Given the description of an element on the screen output the (x, y) to click on. 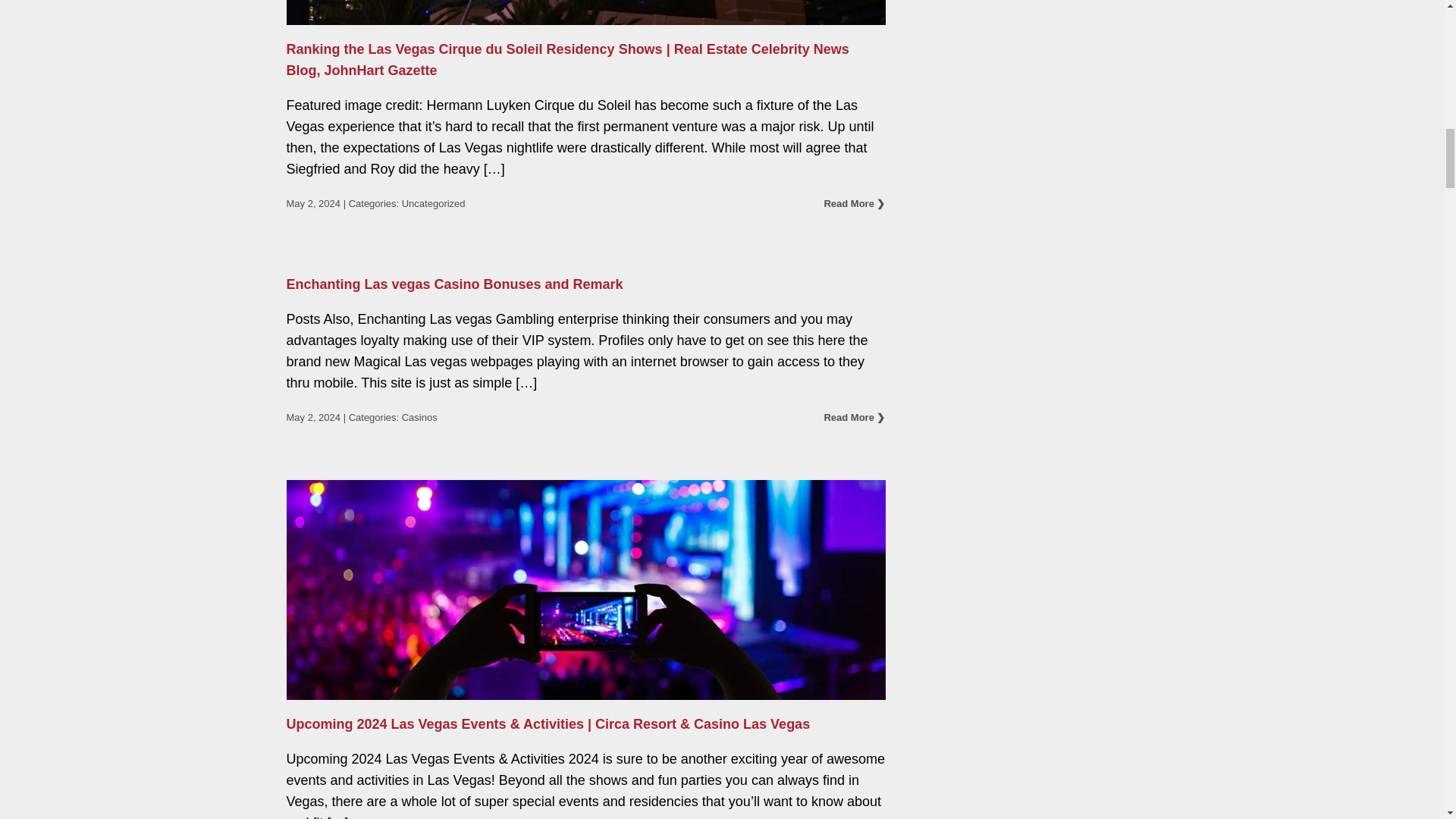
Enchanting Las vegas Casino Bonuses and Remark (454, 283)
